Given the description of an element on the screen output the (x, y) to click on. 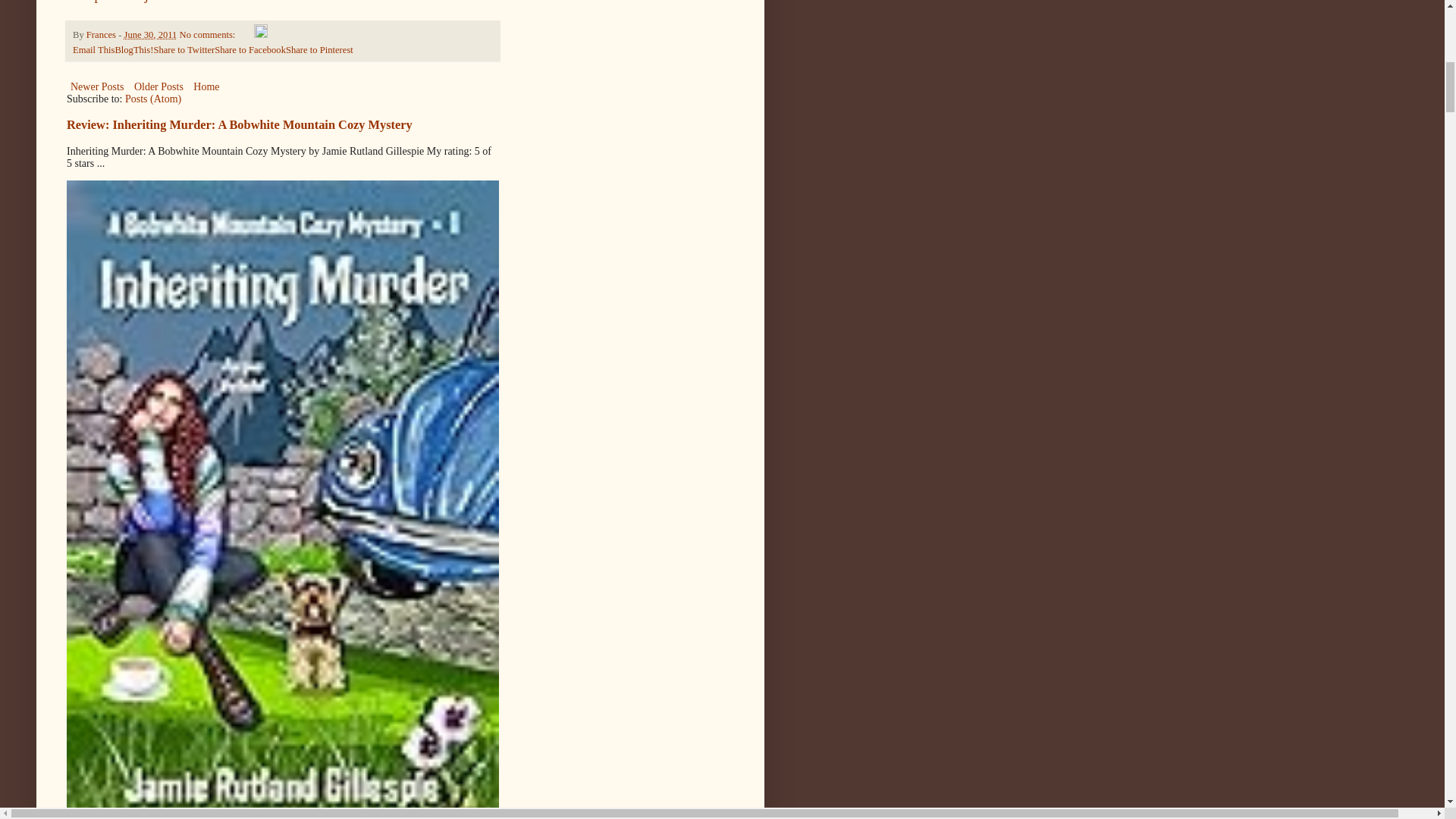
BlogThis! (133, 50)
Frances (101, 34)
Newer Posts (97, 86)
Home (205, 86)
Review: Inheriting Murder: A Bobwhite Mountain Cozy Mystery (239, 124)
Share to Twitter (183, 50)
Share to Pinterest (319, 50)
Email This (93, 50)
Share to Facebook (249, 50)
Share to Pinterest (319, 50)
No comments: (208, 34)
Email This (93, 50)
Share to Facebook (249, 50)
BlogThis! (133, 50)
June 30, 2011 (150, 34)
